Given the description of an element on the screen output the (x, y) to click on. 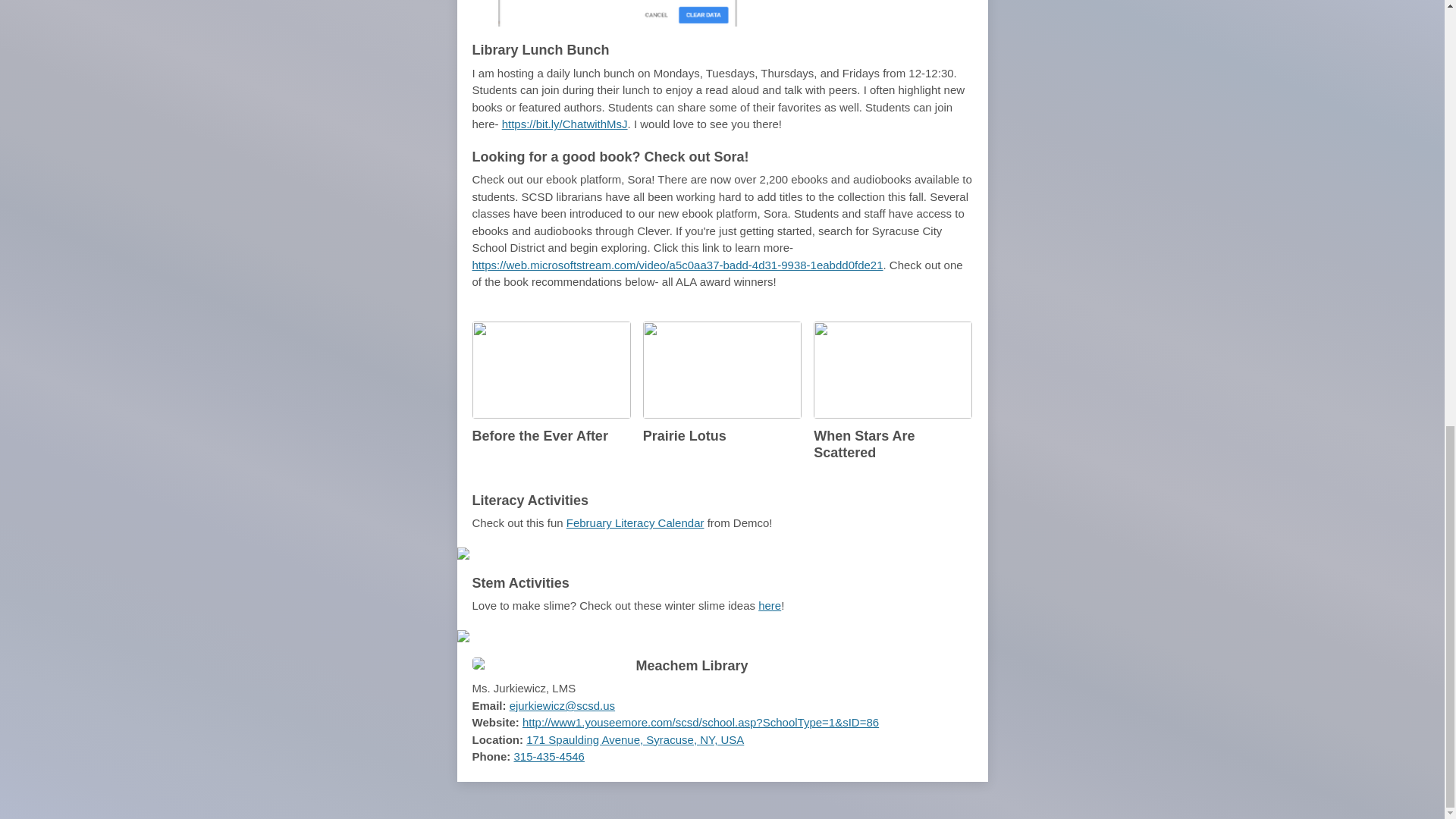
315-435-4546 (549, 756)
171 Spaulding Avenue, Syracuse, NY, USA (634, 739)
February Literacy Calendar (635, 522)
here (769, 604)
